Given the description of an element on the screen output the (x, y) to click on. 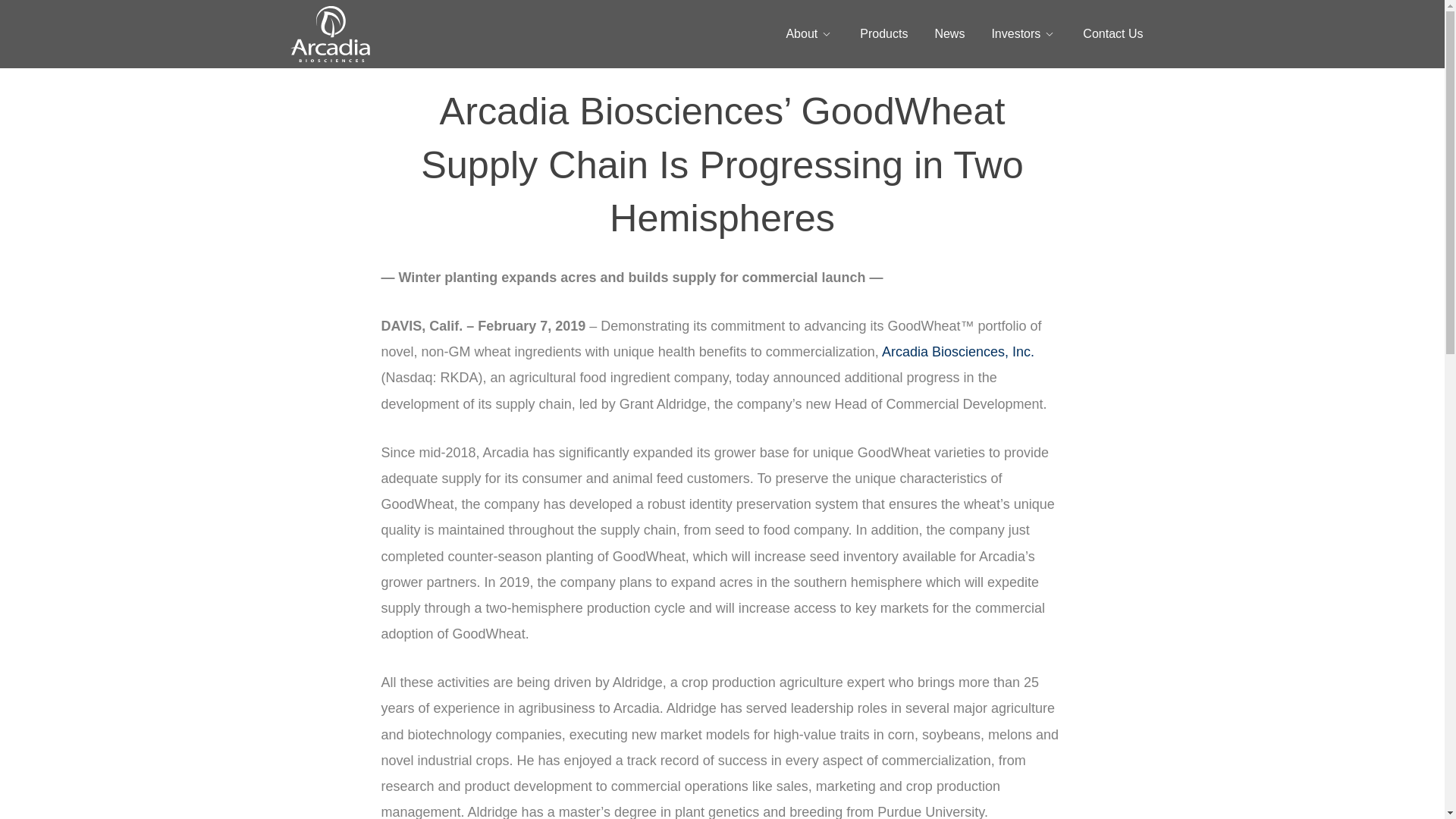
Investors (1023, 33)
Arcadia Biosciences (380, 99)
Products (883, 33)
About (809, 33)
Arcadia Biosciences, Inc. (957, 351)
Contact Us (1112, 33)
